Given the description of an element on the screen output the (x, y) to click on. 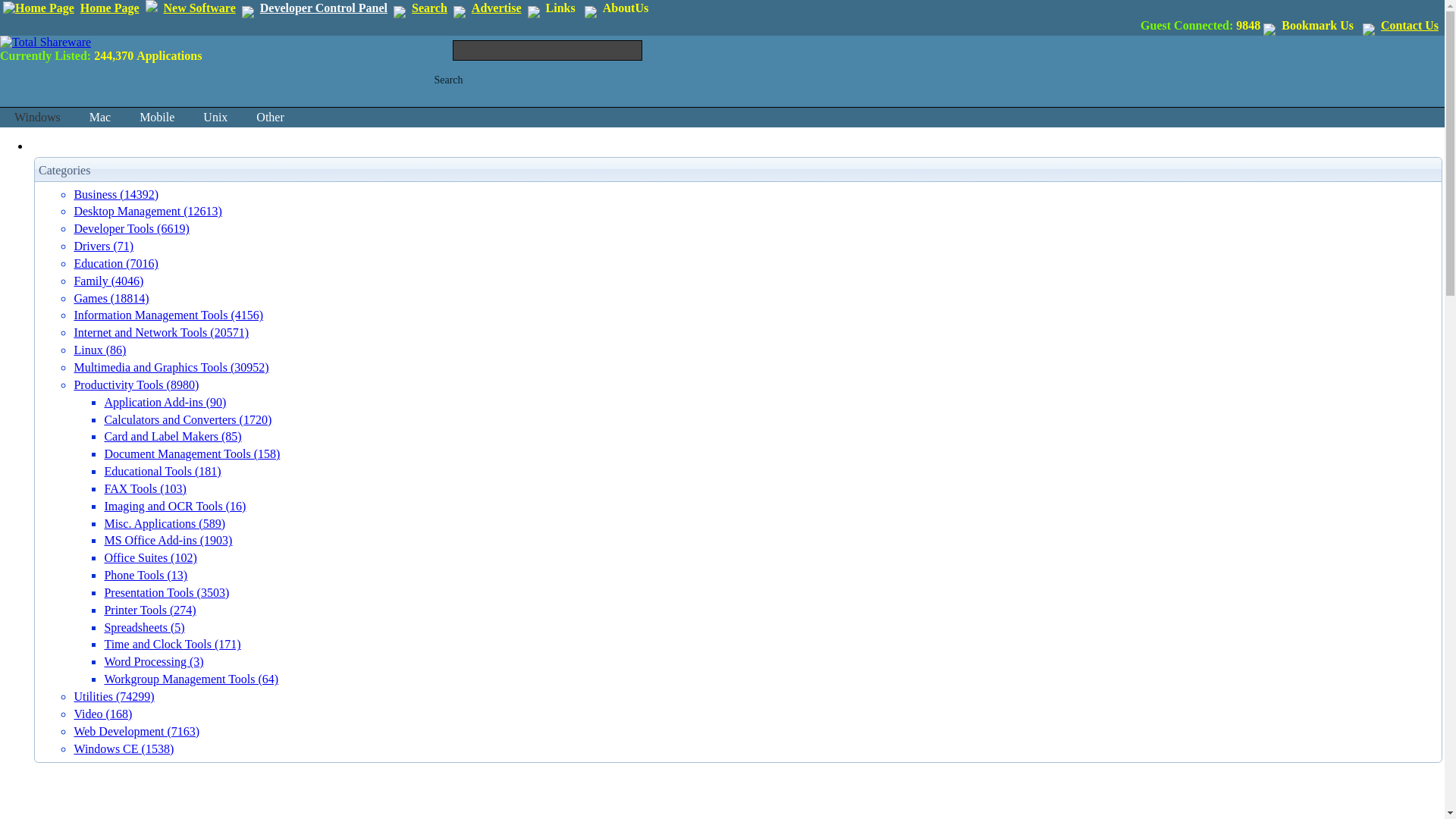
Mac (100, 117)
Search (449, 79)
Home Page (109, 7)
Search (449, 79)
Search (429, 7)
Advertise (496, 7)
Advertisement (90, 792)
Developer Control Panel (323, 7)
Other Download (269, 117)
Other (269, 117)
New Software (199, 7)
Unix Download (215, 117)
Links (560, 7)
AboutUs (624, 7)
Contact Us (1409, 24)
